Given the description of an element on the screen output the (x, y) to click on. 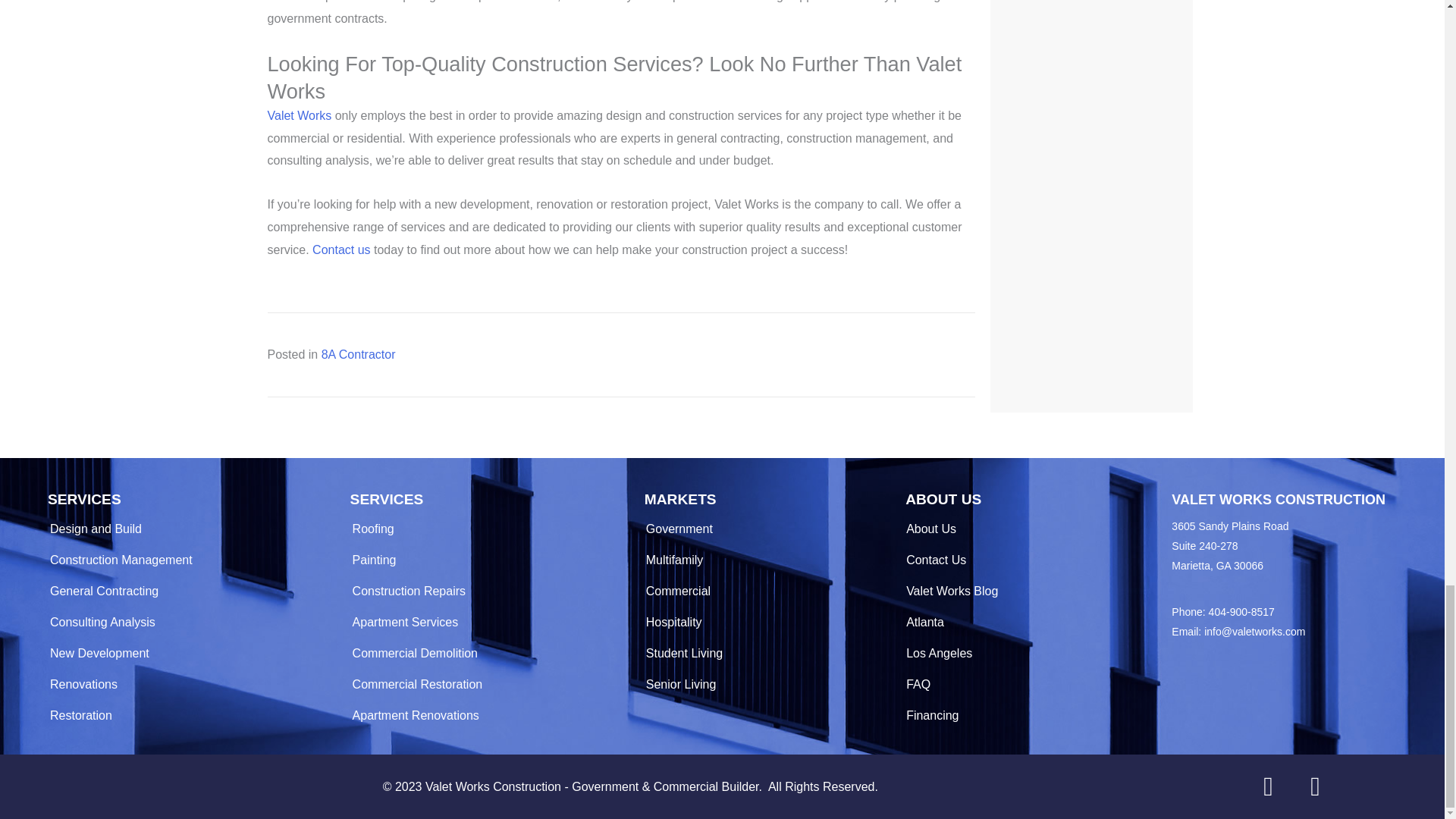
8A Contractor (358, 354)
Construction Management (181, 560)
New Development (181, 653)
Consulting Analysis (181, 622)
Contact us (341, 249)
Valet Works (298, 115)
General Contracting (181, 591)
Renovations (181, 684)
Design and Build (181, 528)
